Given the description of an element on the screen output the (x, y) to click on. 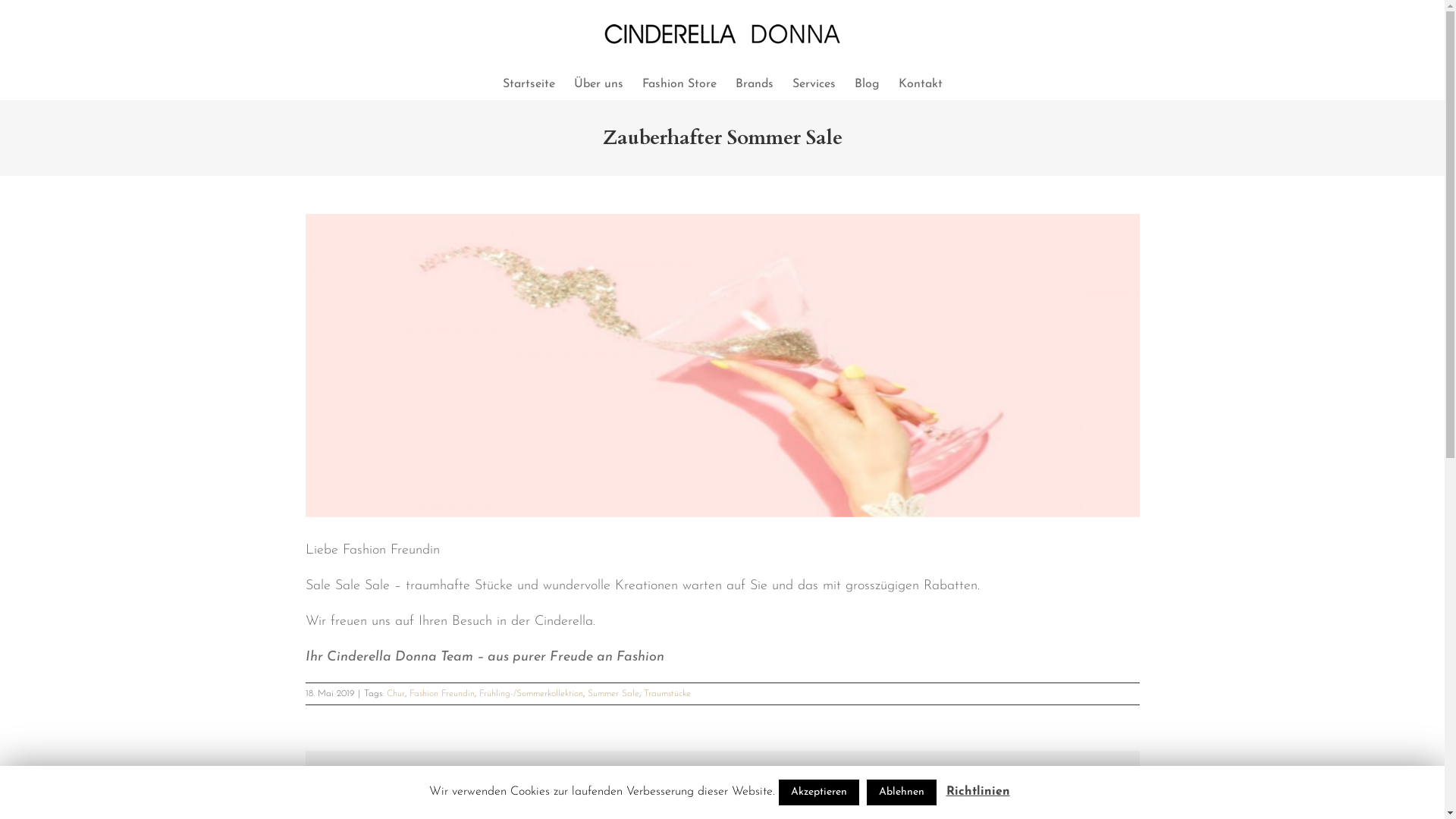
Tumblr Element type: text (1035, 777)
Email Element type: text (1117, 777)
Fashion Store Element type: text (678, 84)
Services Element type: text (812, 84)
Brands Element type: text (754, 84)
Startseite Element type: text (528, 84)
Fashion Freundin Element type: text (441, 693)
Google+ Element type: text (1063, 777)
Kontakt Element type: text (919, 84)
Pinterest Element type: text (1090, 777)
Akzeptieren Element type: text (818, 792)
Twitter Element type: text (1008, 777)
Blog Element type: text (865, 84)
Chur Element type: text (395, 693)
Summer Sale Element type: text (612, 693)
Richtlinien Element type: text (978, 791)
View Larger Image Element type: text (721, 365)
Ablehnen Element type: text (900, 792)
Facebook Element type: text (981, 777)
